Given the description of an element on the screen output the (x, y) to click on. 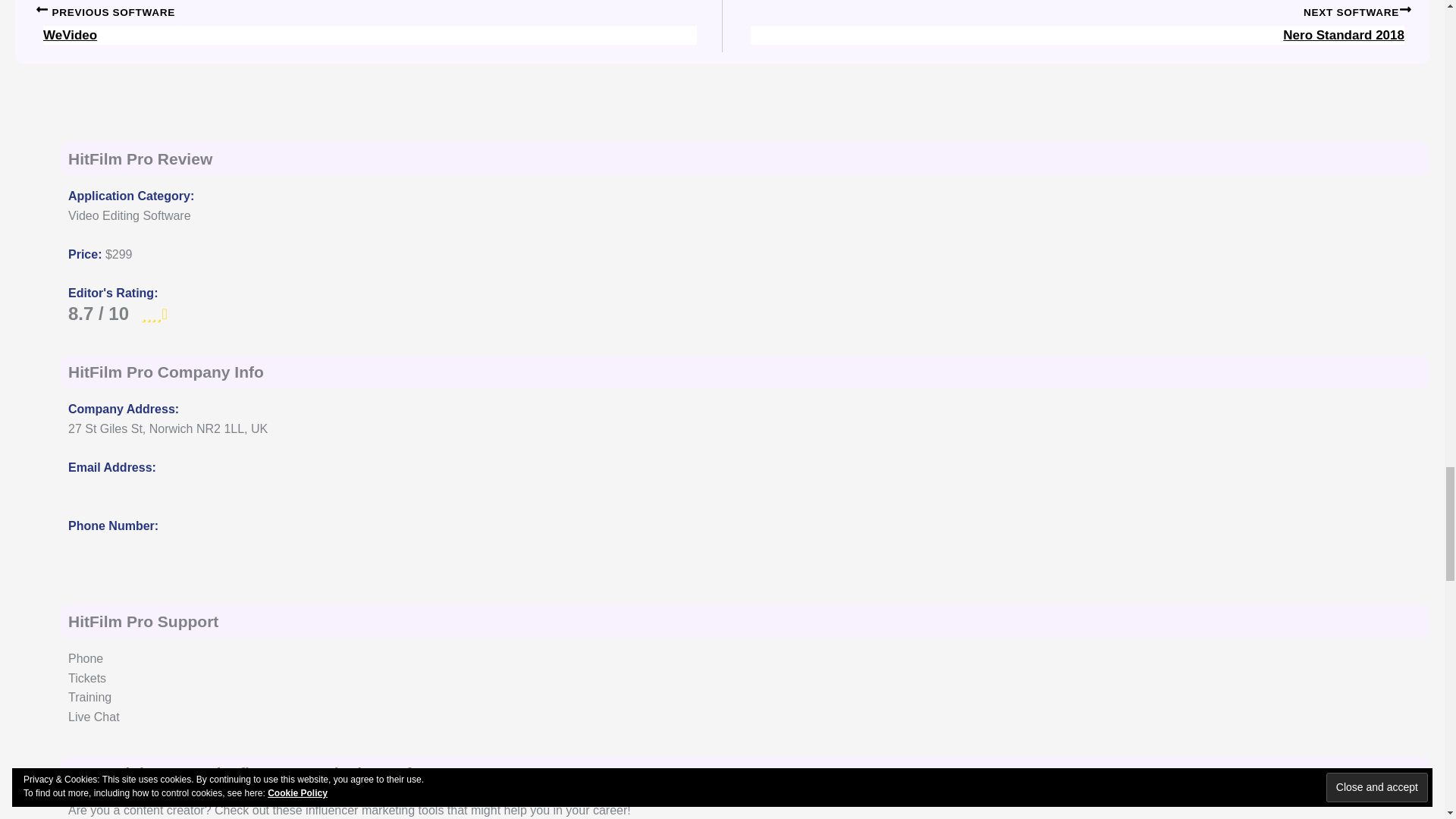
WeVideo (369, 13)
Nero Standard 2018 (1077, 13)
